Given the description of an element on the screen output the (x, y) to click on. 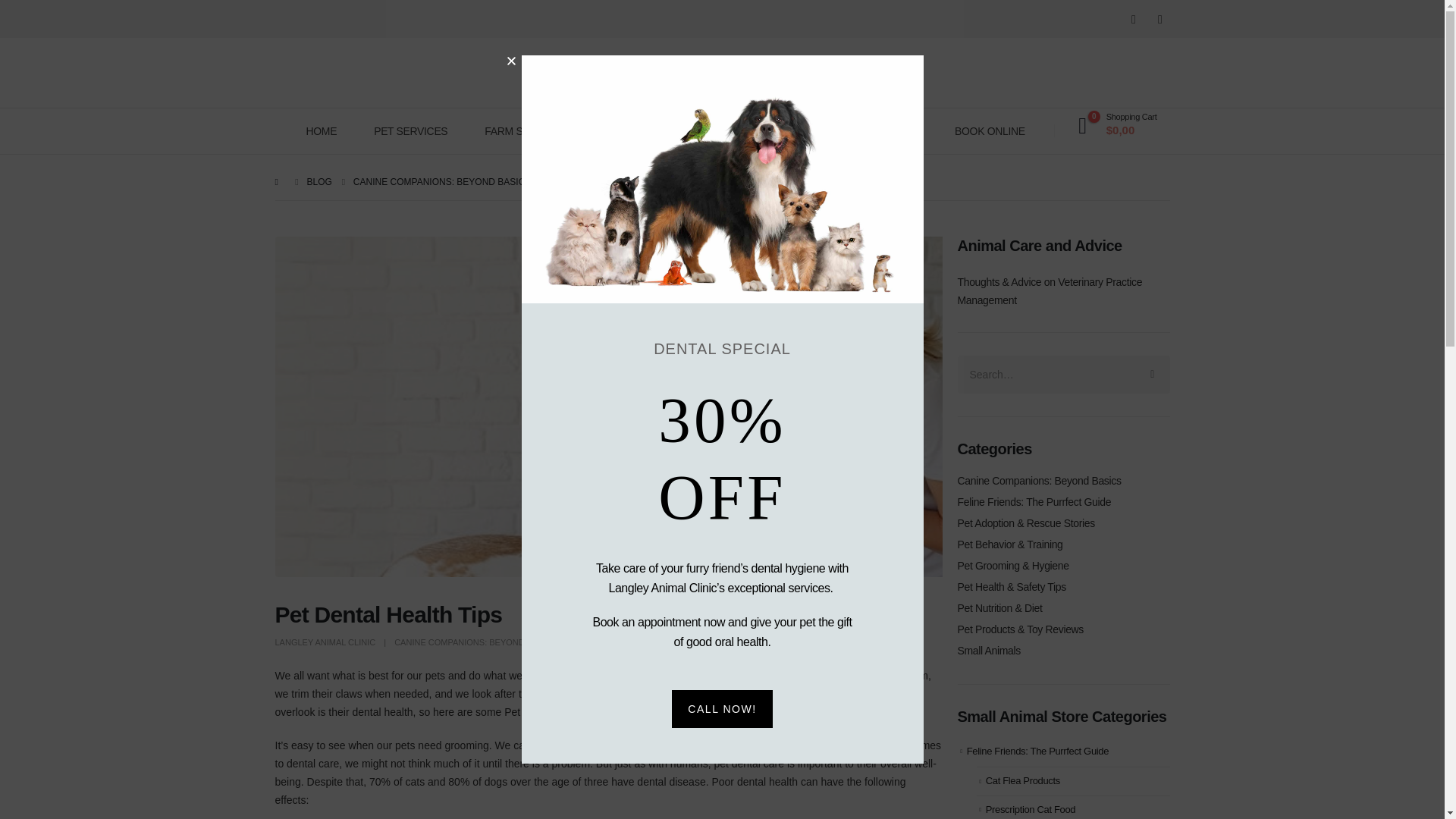
Facebook (1160, 18)
Instagram (1133, 18)
Posts by Langley Animal Clinic (325, 642)
FARM SERVICES (525, 130)
RESOURCES (636, 130)
HOME (321, 130)
PET SERVICES (410, 130)
